Given the description of an element on the screen output the (x, y) to click on. 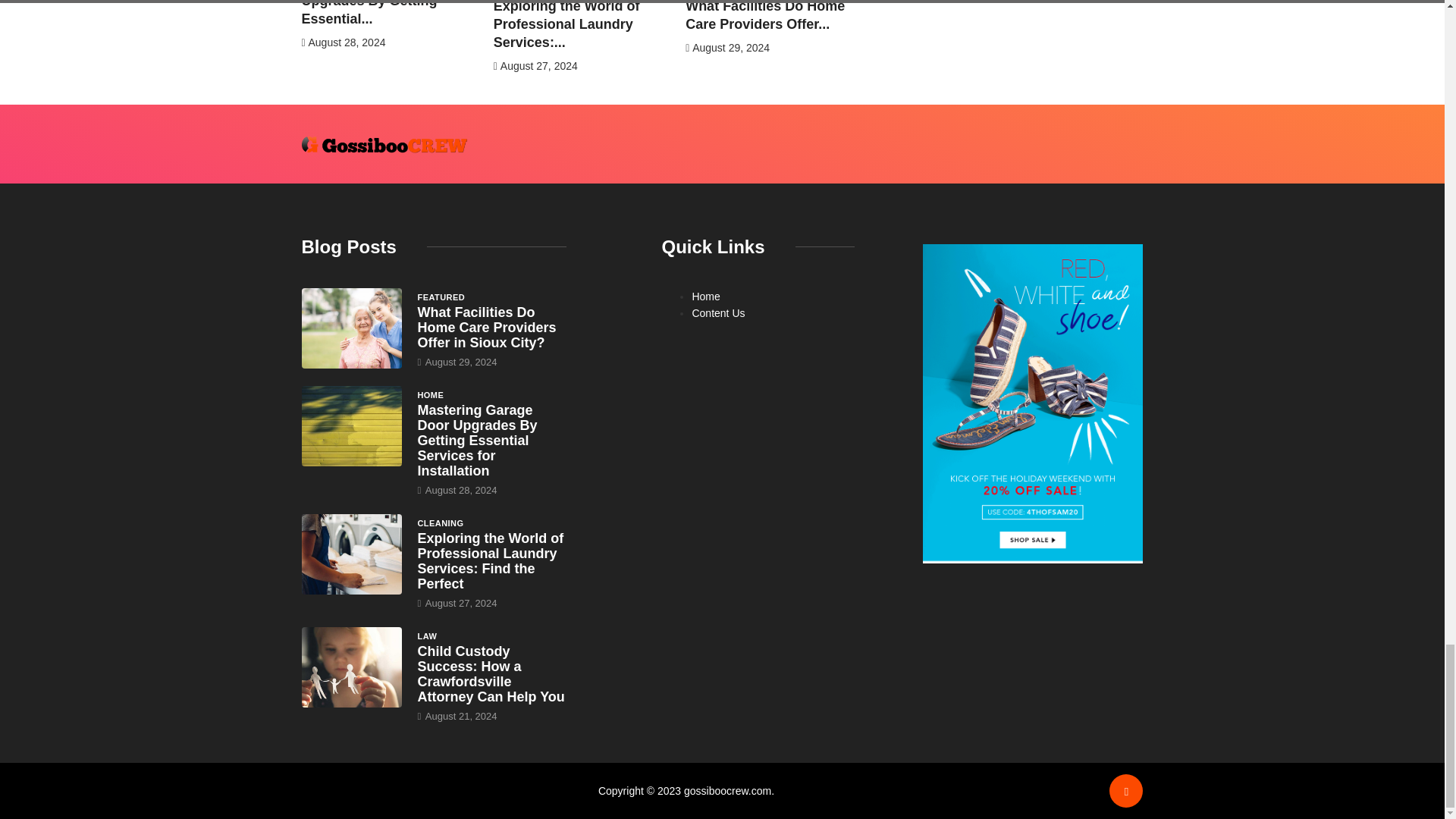
What Facilities Do Home Care Providers Offer in Sioux City? (486, 327)
What Facilities Do Home Care Providers Offer in Sioux City? (352, 328)
